Given the description of an element on the screen output the (x, y) to click on. 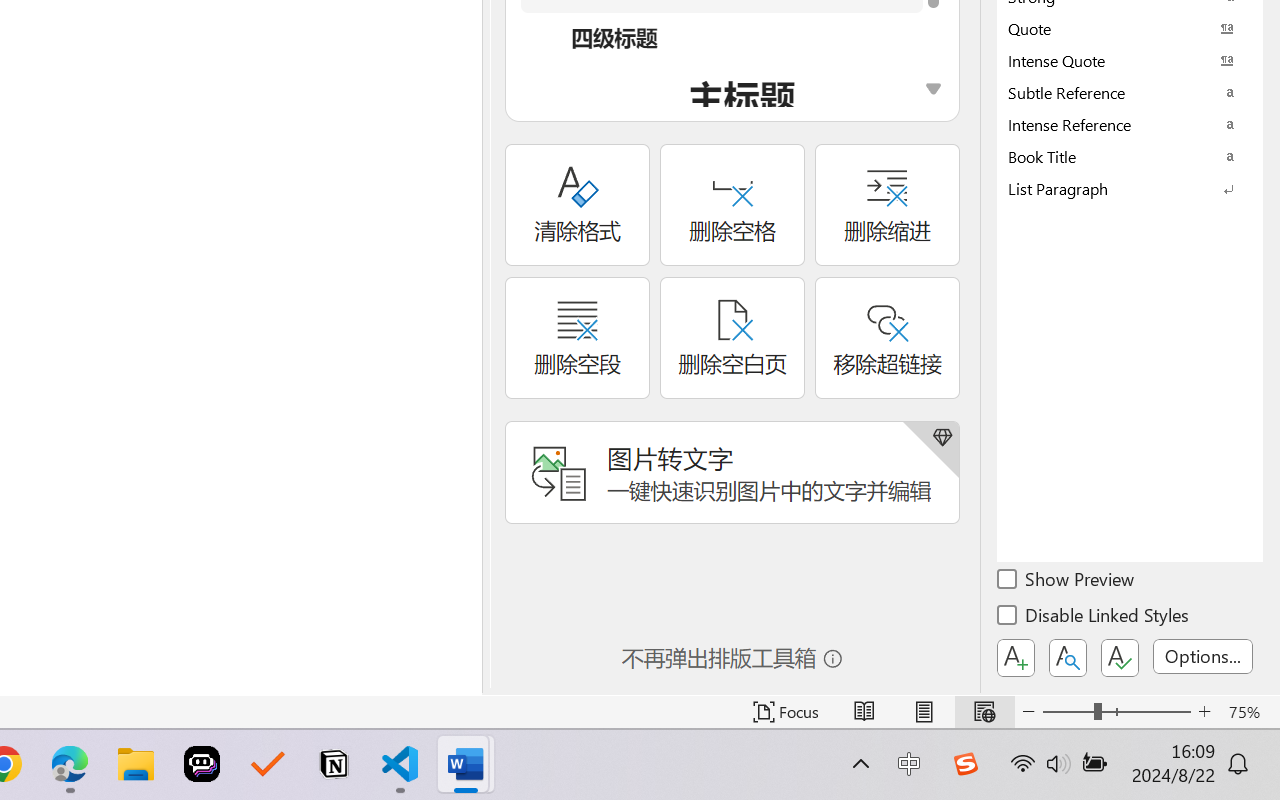
Class: Image (965, 764)
Read Mode (864, 712)
Web Layout (984, 712)
Class: NetUIImage (1116, 188)
Class: NetUIButton (1119, 657)
Focus  (786, 712)
Options... (1203, 656)
Zoom In (1204, 712)
Intense Reference (1130, 124)
